Given the description of an element on the screen output the (x, y) to click on. 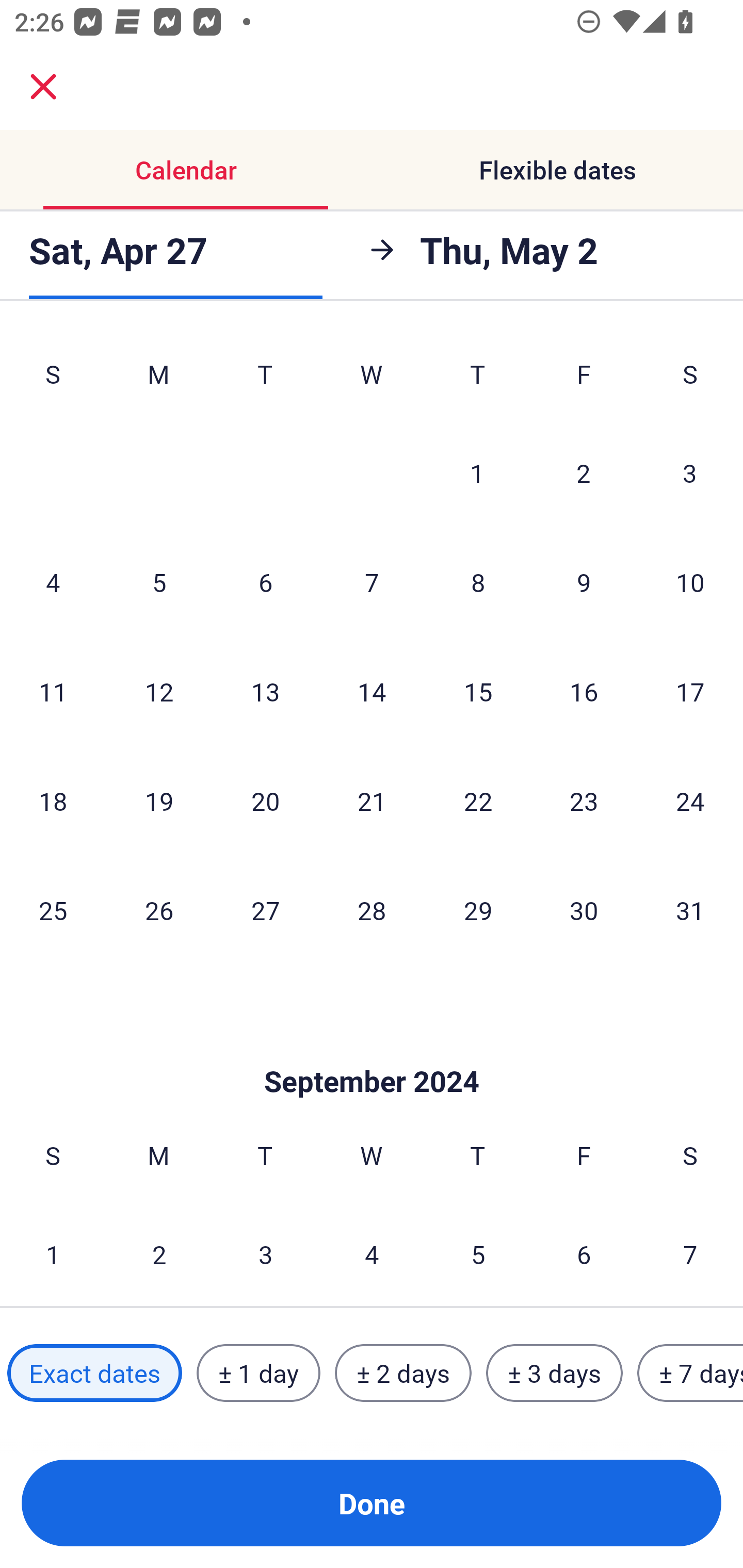
close. (43, 86)
Flexible dates (557, 170)
1 Thursday, August 1, 2024 (477, 472)
2 Friday, August 2, 2024 (583, 472)
3 Saturday, August 3, 2024 (689, 472)
4 Sunday, August 4, 2024 (53, 582)
5 Monday, August 5, 2024 (159, 582)
6 Tuesday, August 6, 2024 (265, 582)
7 Wednesday, August 7, 2024 (371, 582)
8 Thursday, August 8, 2024 (477, 582)
9 Friday, August 9, 2024 (584, 582)
10 Saturday, August 10, 2024 (690, 582)
11 Sunday, August 11, 2024 (53, 691)
12 Monday, August 12, 2024 (159, 691)
13 Tuesday, August 13, 2024 (265, 691)
14 Wednesday, August 14, 2024 (371, 691)
15 Thursday, August 15, 2024 (477, 691)
16 Friday, August 16, 2024 (584, 691)
17 Saturday, August 17, 2024 (690, 691)
18 Sunday, August 18, 2024 (53, 799)
19 Monday, August 19, 2024 (159, 799)
20 Tuesday, August 20, 2024 (265, 799)
21 Wednesday, August 21, 2024 (371, 799)
22 Thursday, August 22, 2024 (477, 799)
23 Friday, August 23, 2024 (584, 799)
24 Saturday, August 24, 2024 (690, 799)
25 Sunday, August 25, 2024 (53, 909)
26 Monday, August 26, 2024 (159, 909)
27 Tuesday, August 27, 2024 (265, 909)
28 Wednesday, August 28, 2024 (371, 909)
29 Thursday, August 29, 2024 (477, 909)
30 Friday, August 30, 2024 (584, 909)
31 Saturday, August 31, 2024 (690, 909)
Skip to Done (371, 1050)
1 Sunday, September 1, 2024 (53, 1253)
2 Monday, September 2, 2024 (159, 1253)
3 Tuesday, September 3, 2024 (265, 1253)
4 Wednesday, September 4, 2024 (371, 1253)
5 Thursday, September 5, 2024 (477, 1253)
6 Friday, September 6, 2024 (584, 1253)
7 Saturday, September 7, 2024 (690, 1253)
Exact dates (94, 1372)
± 1 day (258, 1372)
± 2 days (403, 1372)
± 3 days (553, 1372)
± 7 days (690, 1372)
Done (371, 1502)
